Given the description of an element on the screen output the (x, y) to click on. 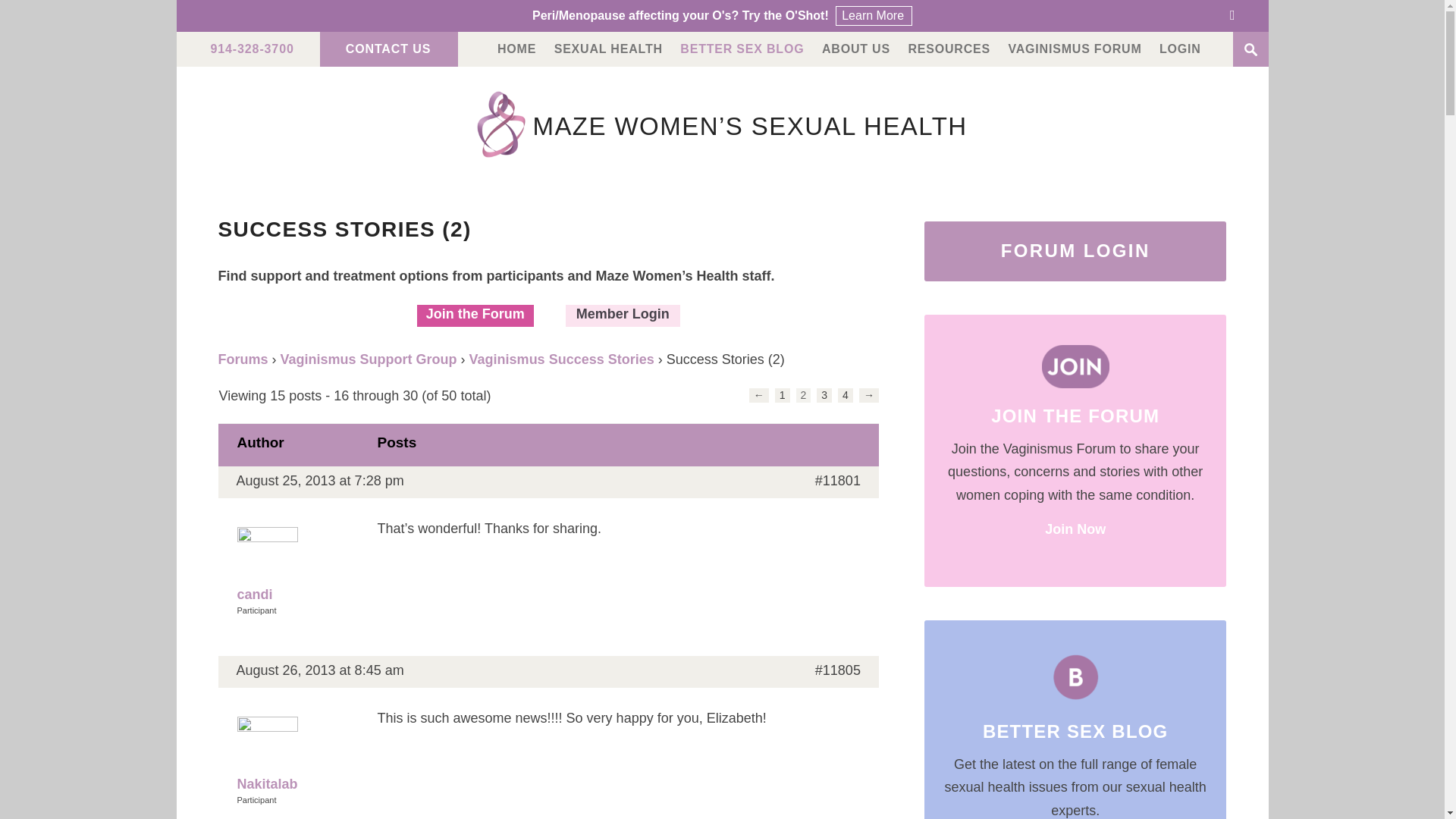
BETTER SEX BLOG (741, 49)
View candi's profile (296, 566)
RESOURCES (948, 49)
HOME (516, 49)
CONTACT US (388, 49)
SEXUAL HEALTH (608, 49)
ABOUT US (855, 49)
View Nakitalab's profile (296, 756)
914-328-3700 (252, 49)
